Given the description of an element on the screen output the (x, y) to click on. 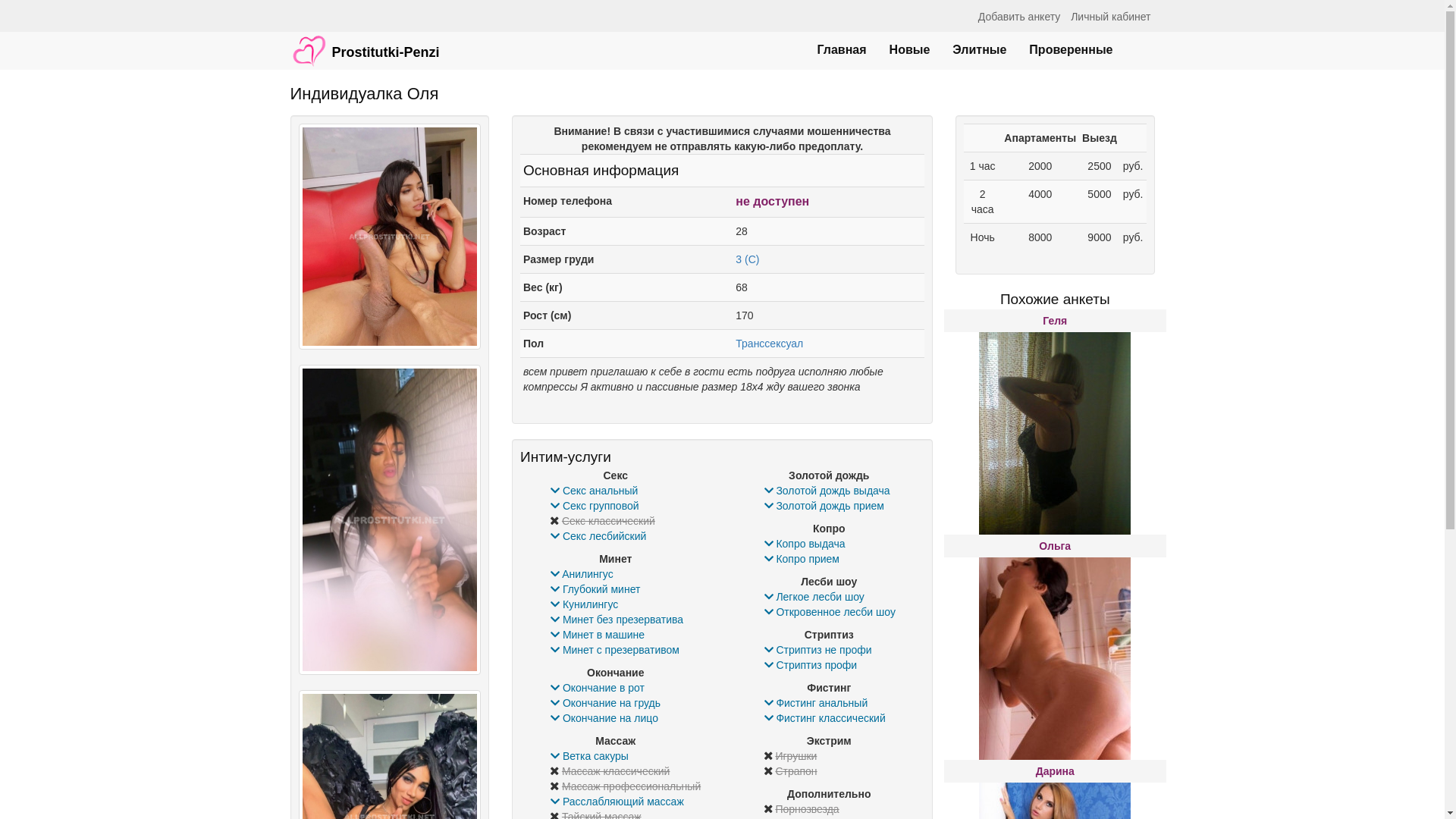
3 (C) Element type: text (747, 259)
Prostitutki-Penzi Element type: text (365, 43)
